Given the description of an element on the screen output the (x, y) to click on. 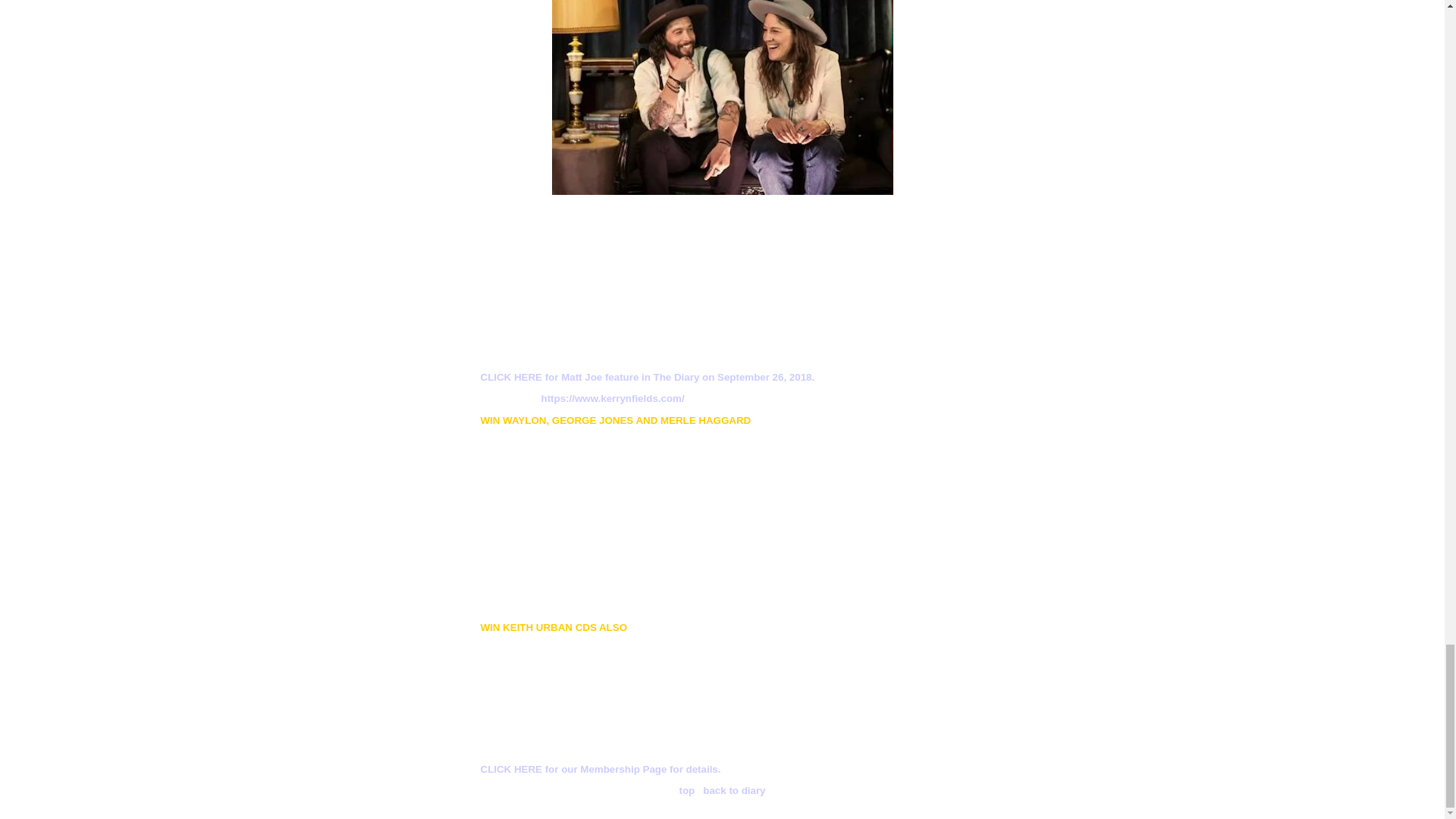
top (686, 790)
CLICK HERE for our Membership Page for details. (600, 768)
back to diary (734, 790)
